Given the description of an element on the screen output the (x, y) to click on. 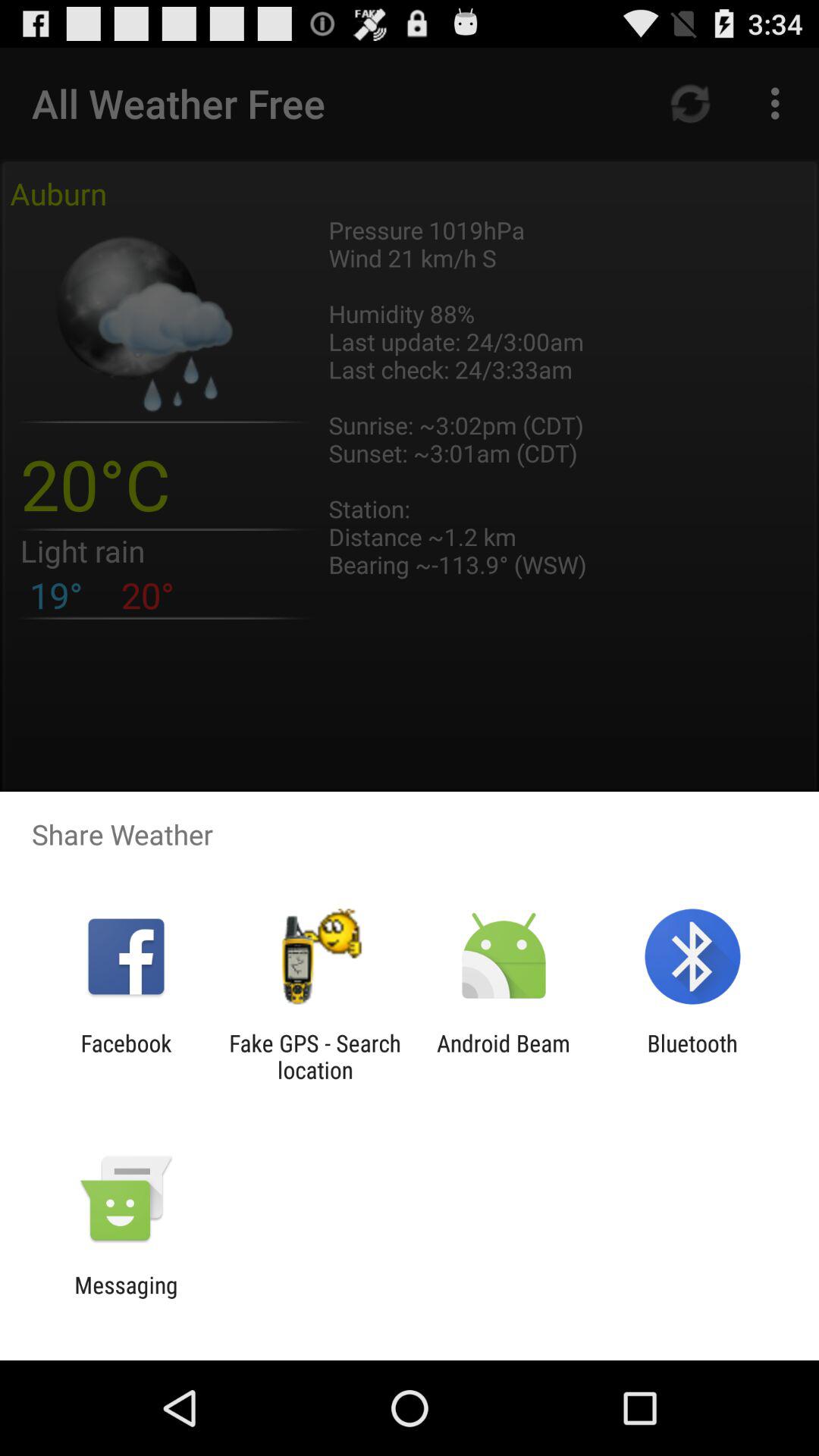
turn on item at the bottom right corner (692, 1056)
